Given the description of an element on the screen output the (x, y) to click on. 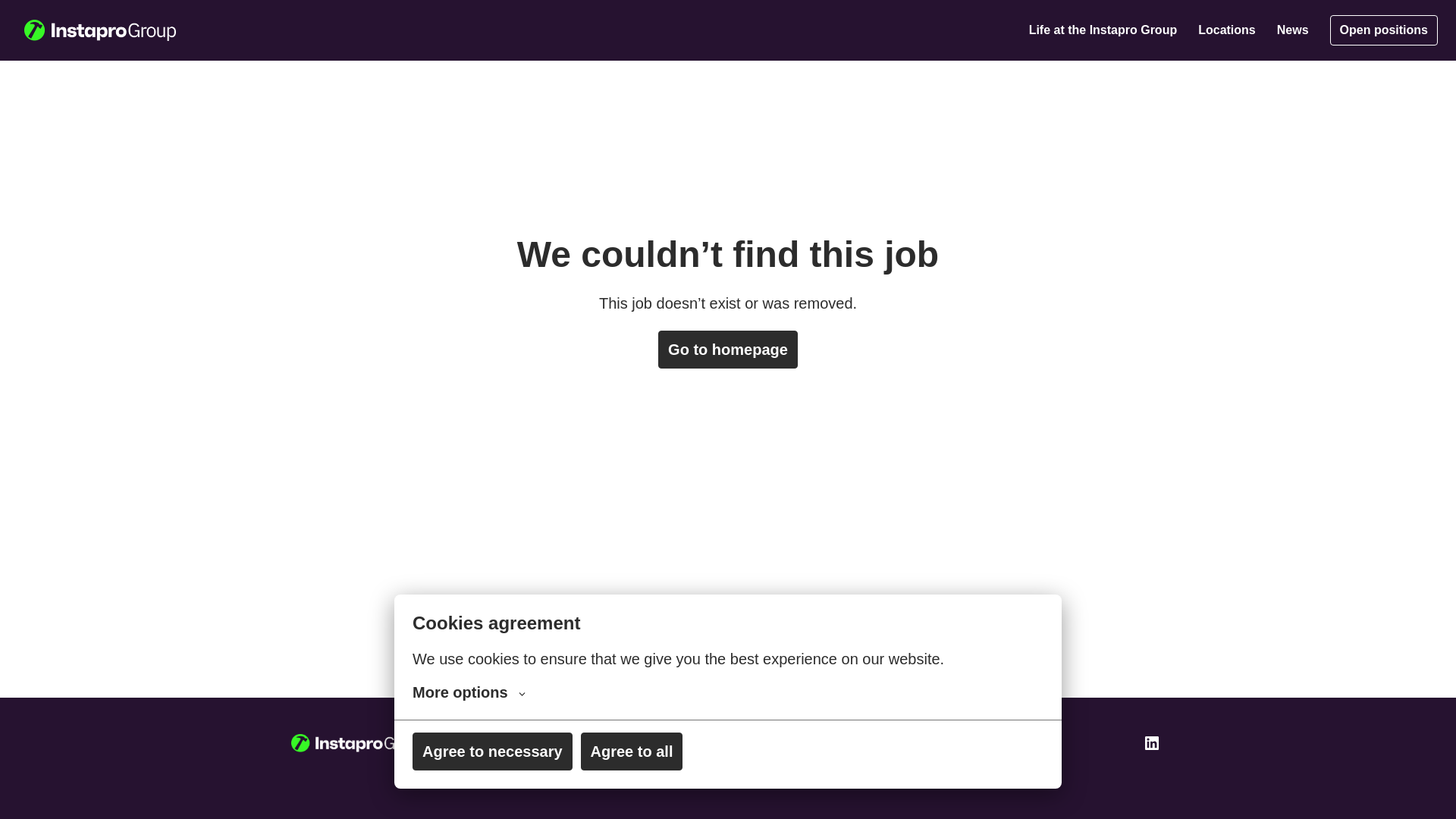
Privacy Policy (829, 743)
Locations (647, 743)
More options (468, 706)
Life at the Instapro Group (1103, 30)
News (1292, 30)
Whistleblower Tool (935, 743)
Open positions (732, 743)
Homepage (99, 30)
Agree to all (631, 764)
Homepage (358, 742)
Go to homepage (727, 349)
linkedin (1151, 742)
Agree to necessary (492, 765)
Locations (1227, 30)
Open positions (1384, 30)
